Given the description of an element on the screen output the (x, y) to click on. 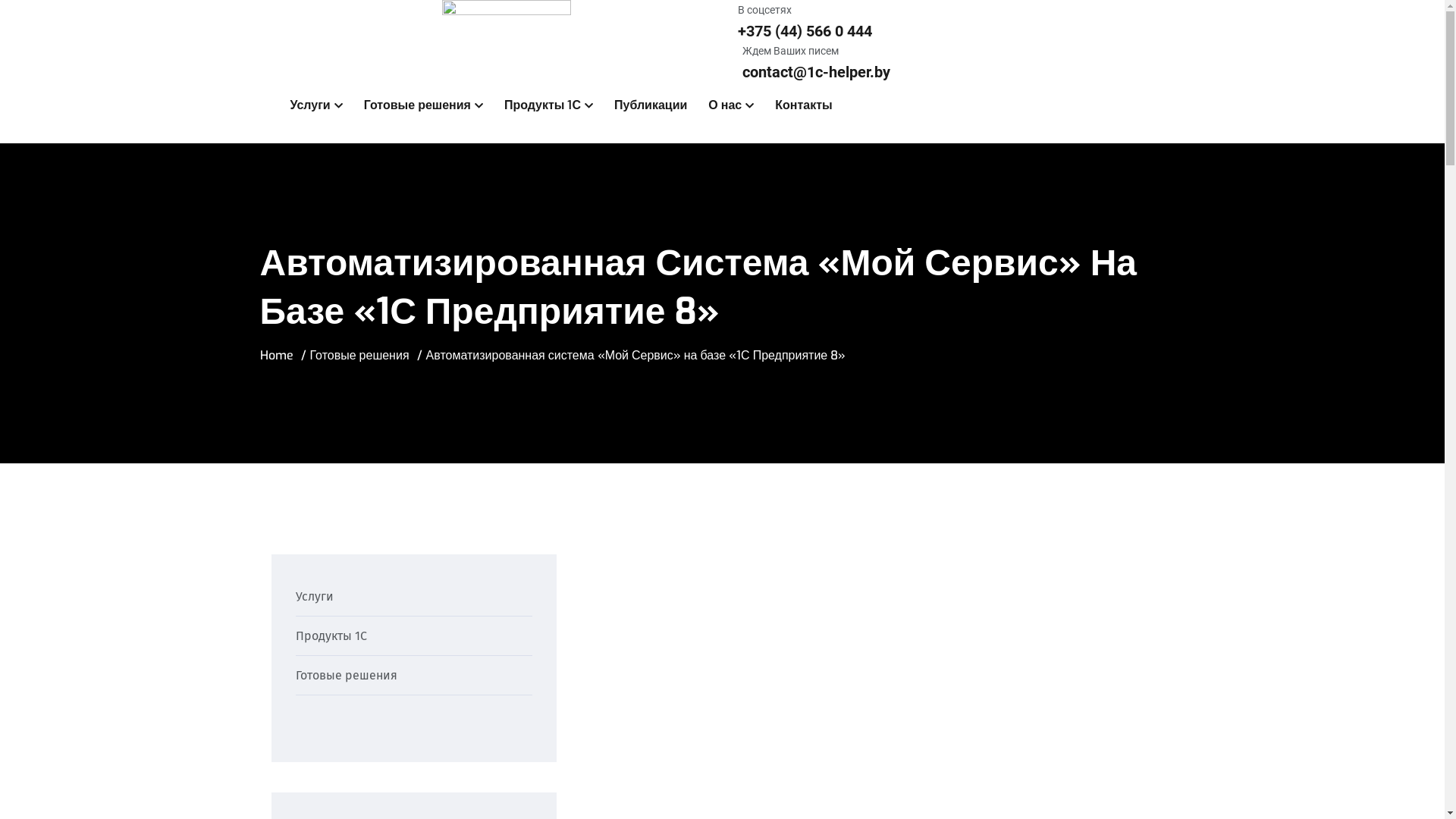
Home Element type: text (275, 355)
+375 (44) 566 0 444 Element type: text (804, 30)
contact@1c-helper.by Element type: text (815, 71)
